Given the description of an element on the screen output the (x, y) to click on. 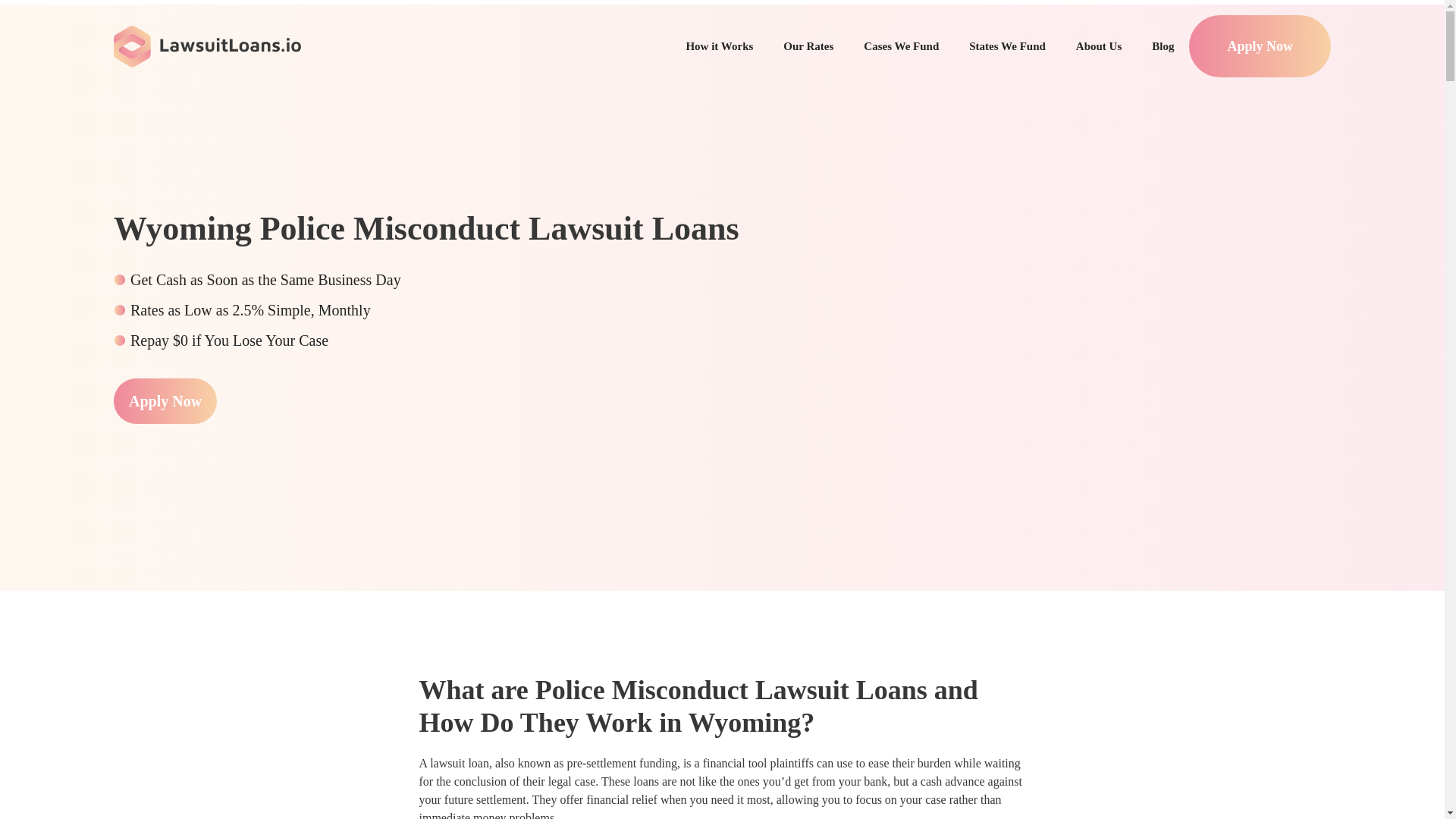
Blog (1163, 45)
Apply Now (164, 401)
About Us (1099, 45)
States We Fund (1007, 45)
Our Rates (808, 45)
How it Works (718, 45)
Cases We Fund (900, 45)
Apply Now (1259, 45)
